Given the description of an element on the screen output the (x, y) to click on. 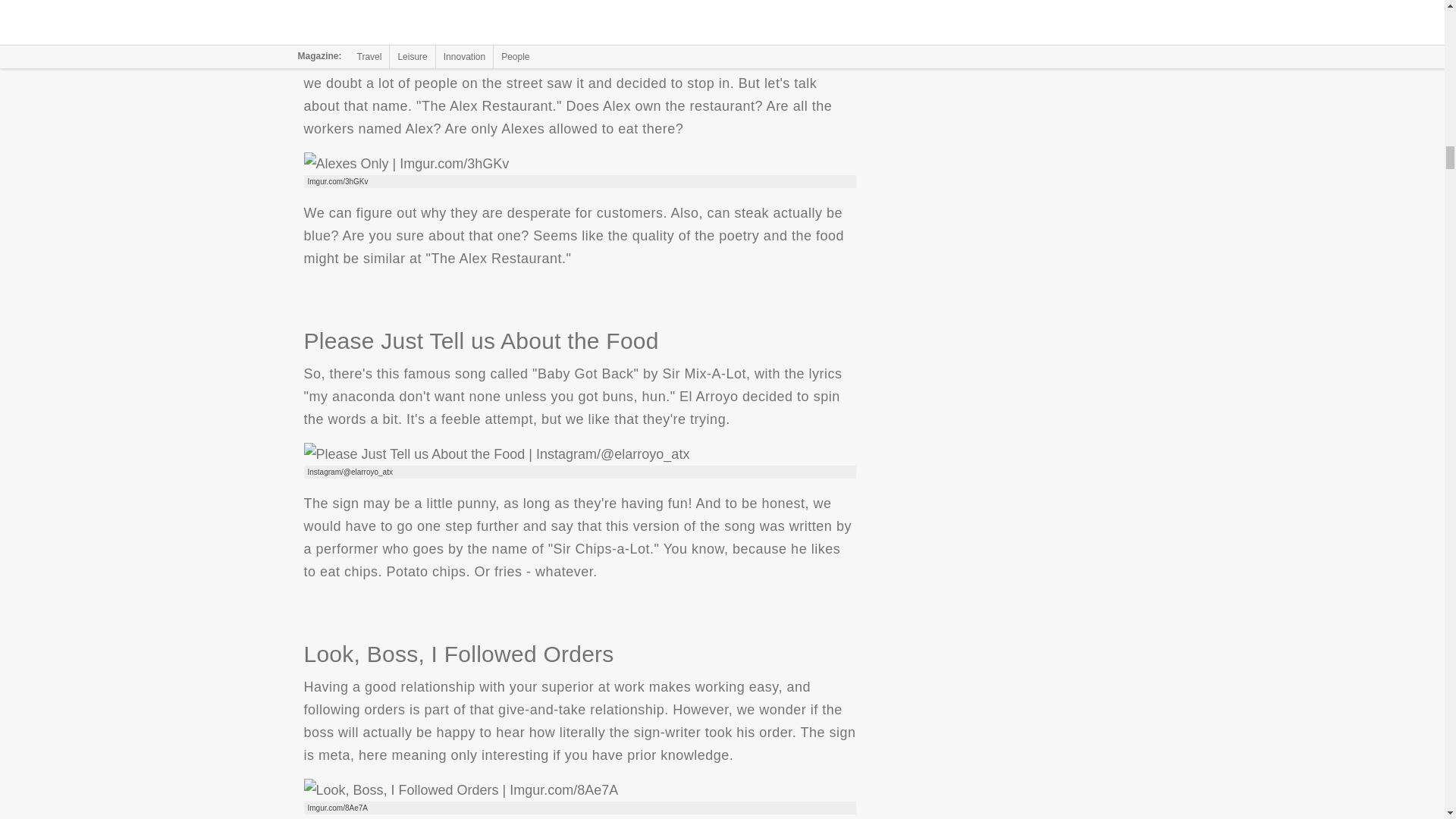
Please Just Tell us About the Food (495, 454)
Alexes Only (405, 163)
Look, Boss, I Followed Orders (459, 789)
